Given the description of an element on the screen output the (x, y) to click on. 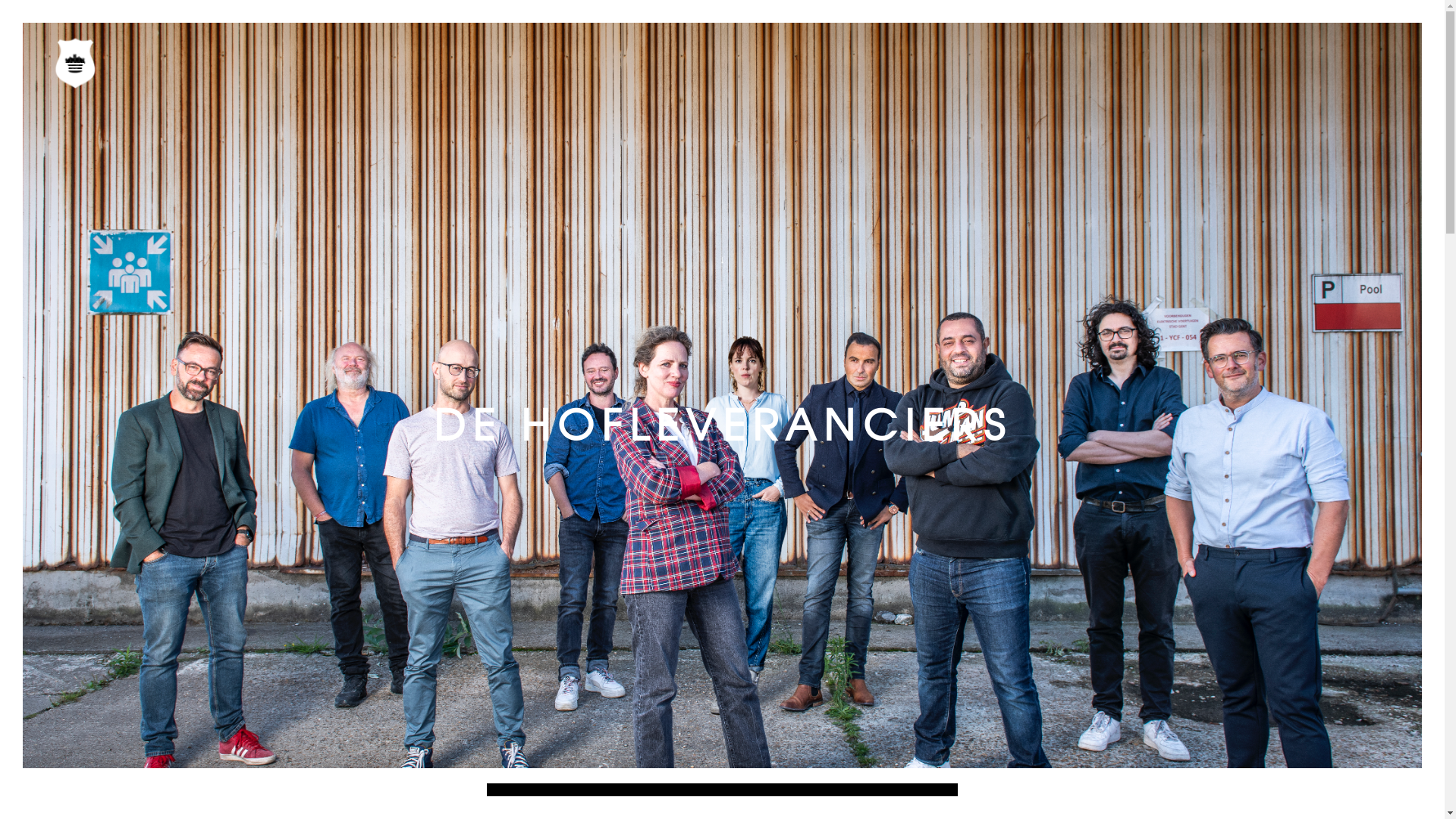
menu Element type: hover (78, 65)
